Given the description of an element on the screen output the (x, y) to click on. 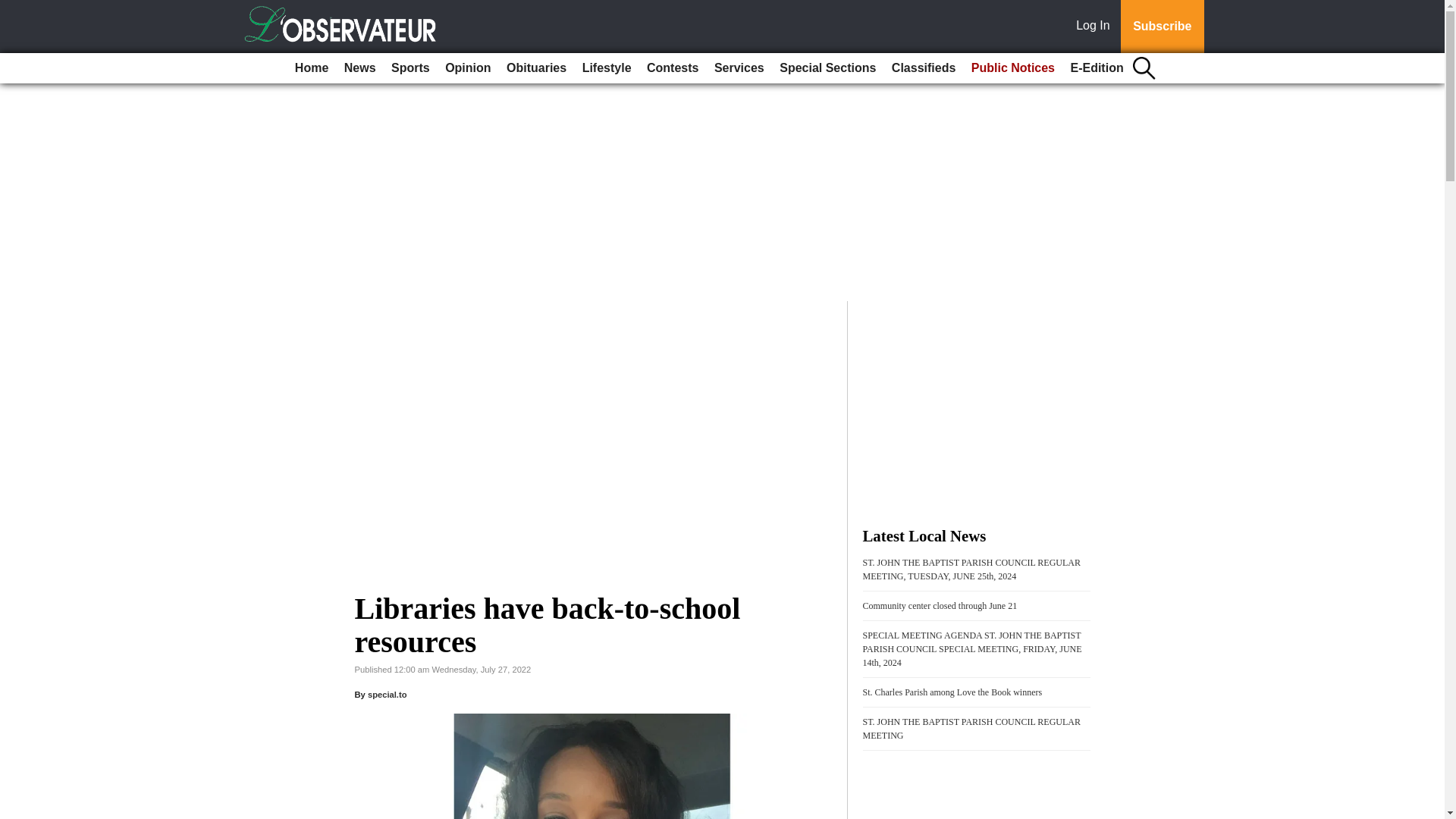
Home (311, 68)
Special Sections (827, 68)
Services (738, 68)
Opinion (467, 68)
special.to (387, 694)
Lifestyle (606, 68)
Subscribe (1162, 26)
St. Charles Parish among Love the Book winners (952, 692)
News (359, 68)
Classifieds (922, 68)
Log In (1095, 26)
Community center closed through June 21 (940, 605)
E-Edition (1096, 68)
Public Notices (1013, 68)
